Given the description of an element on the screen output the (x, y) to click on. 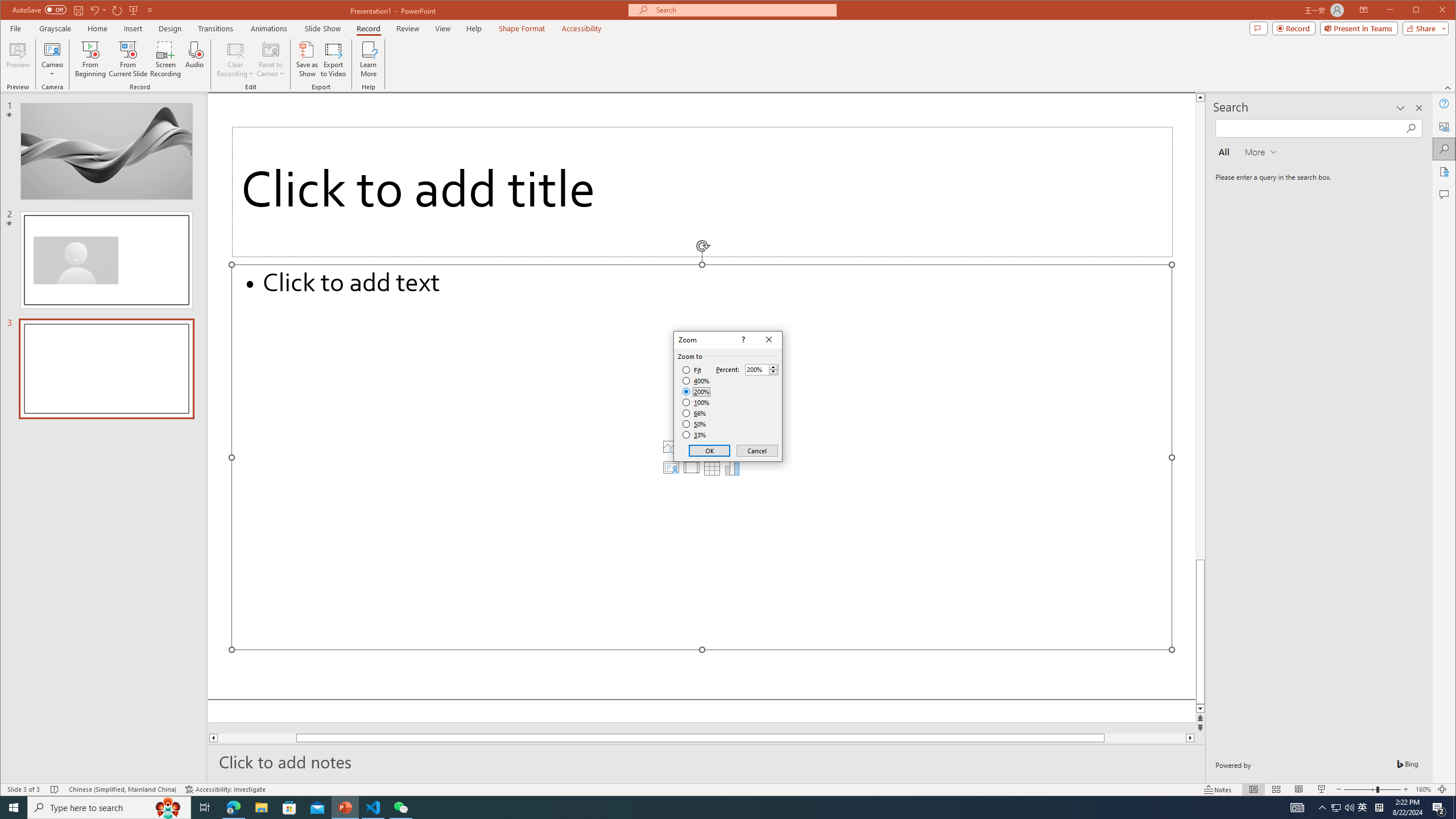
Percent (756, 369)
100% (696, 402)
